Given the description of an element on the screen output the (x, y) to click on. 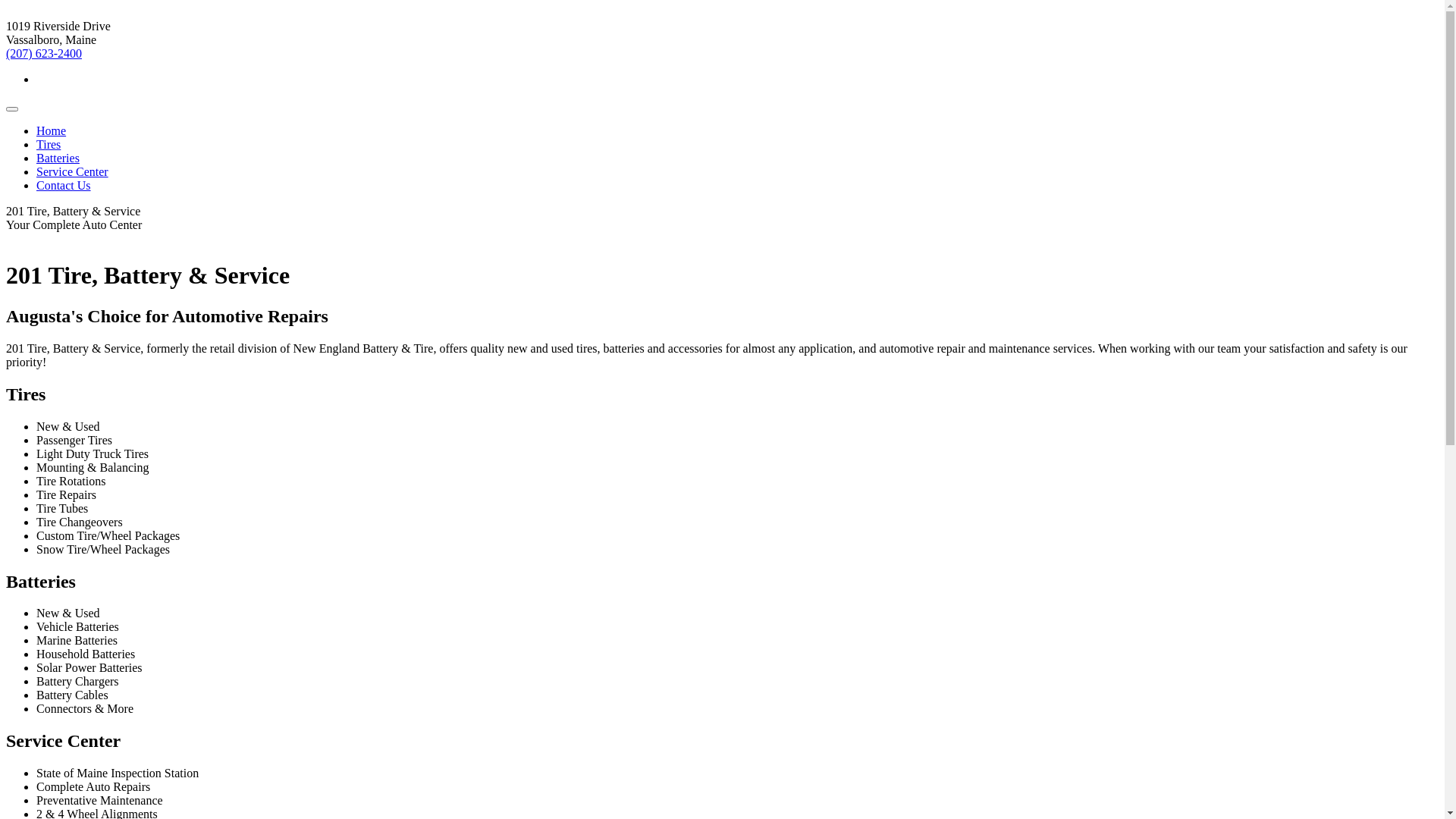
(207) 623-2400 Element type: text (43, 53)
Home Element type: text (50, 130)
Service Center Element type: text (72, 171)
Contact Us Element type: text (63, 184)
Batteries Element type: text (57, 157)
Tires Element type: text (48, 144)
